Given the description of an element on the screen output the (x, y) to click on. 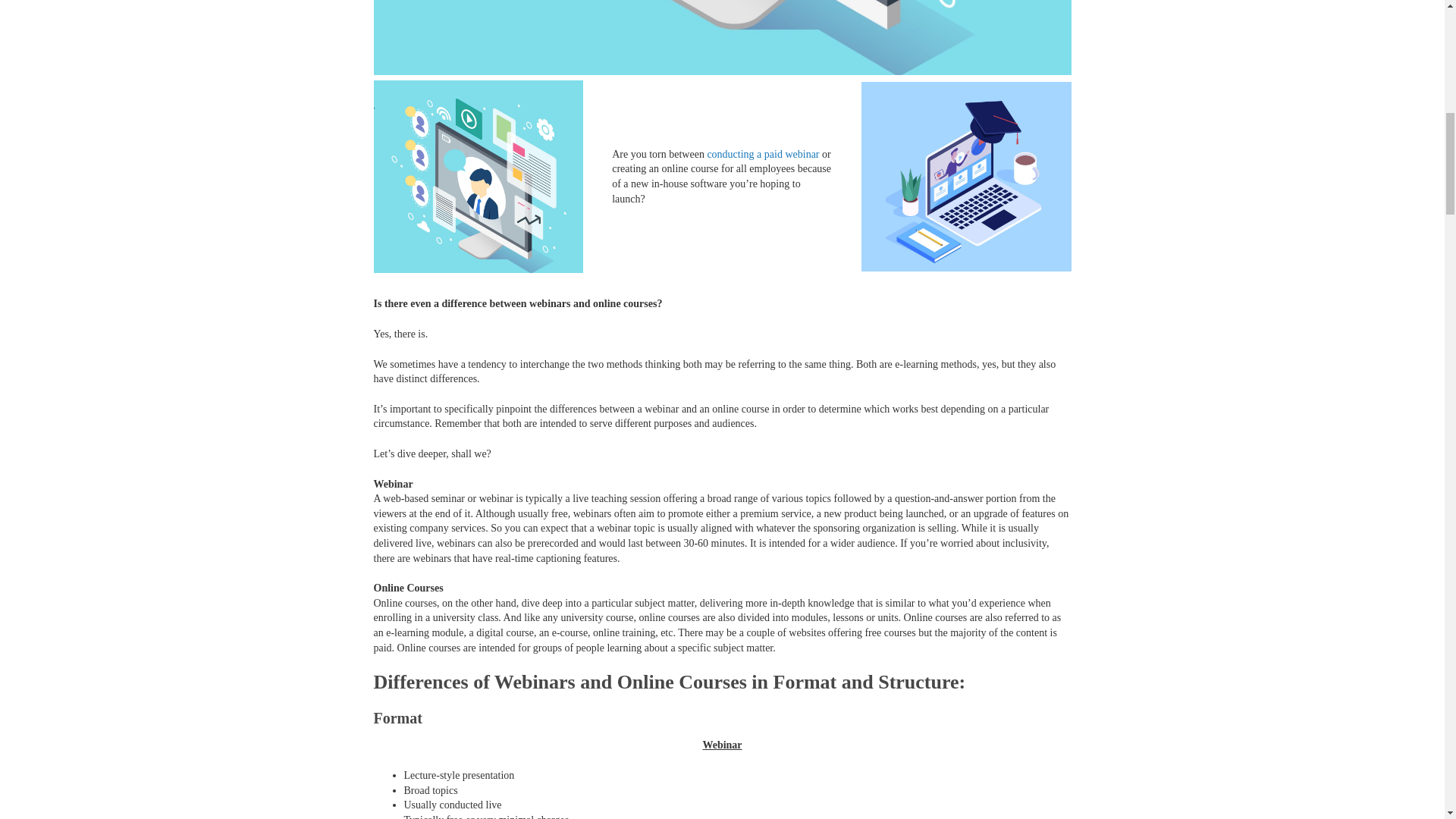
conducting a paid webinar (762, 153)
